Given the description of an element on the screen output the (x, y) to click on. 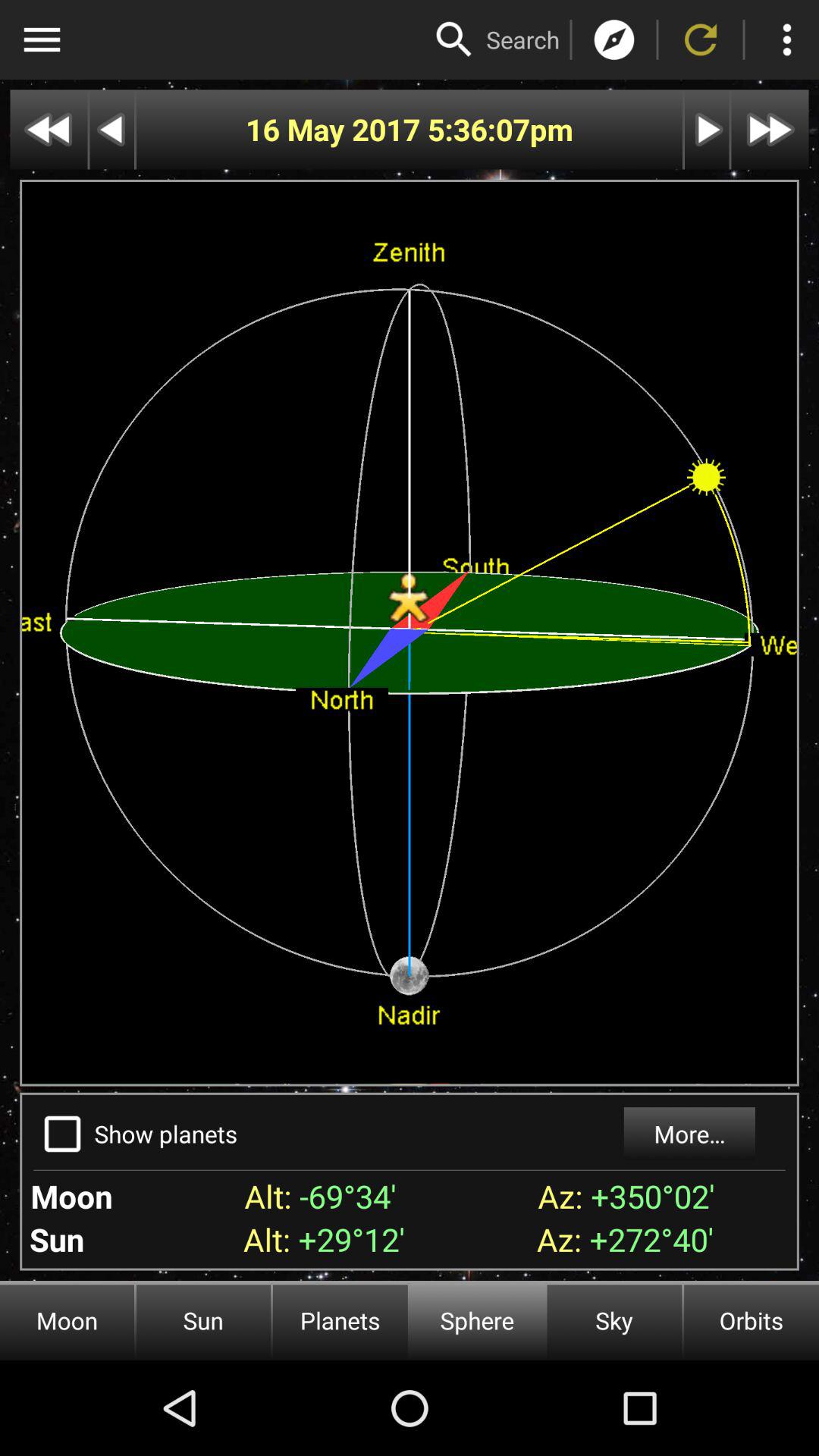
go to settings (787, 39)
